Given the description of an element on the screen output the (x, y) to click on. 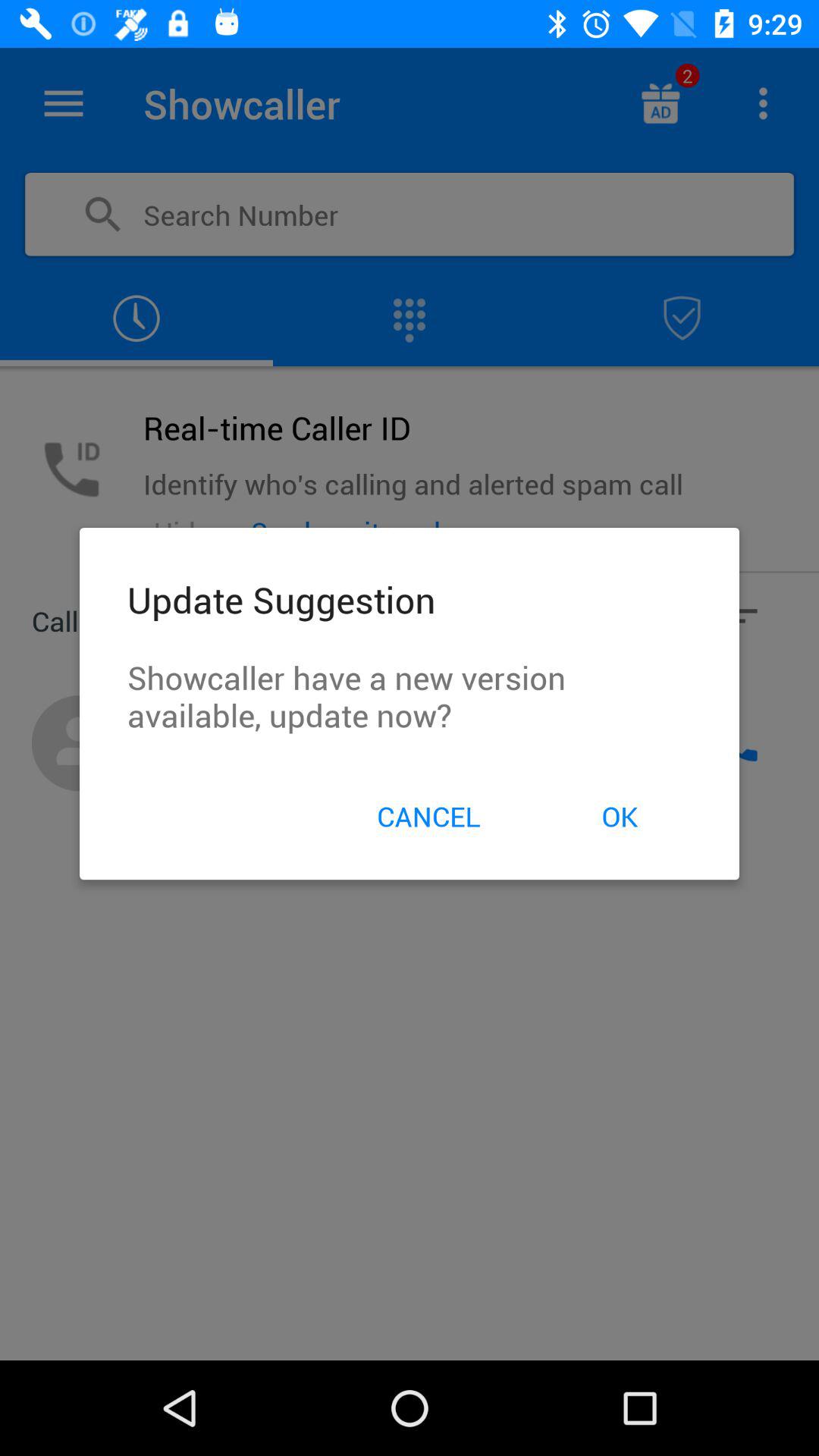
flip until the cancel icon (428, 815)
